Given the description of an element on the screen output the (x, y) to click on. 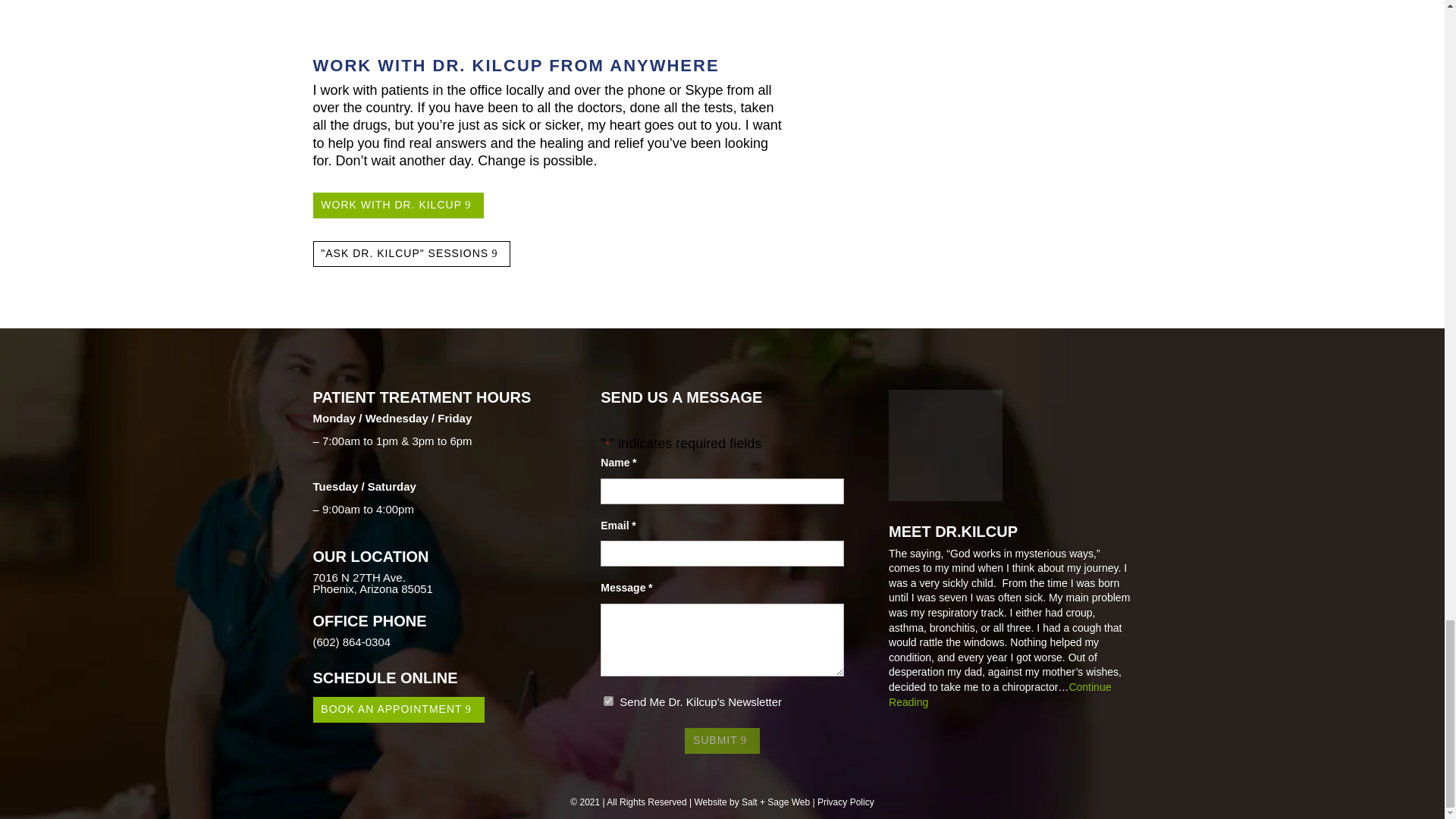
Send Me Dr. Kilcup's Newsletter (608, 700)
